Given the description of an element on the screen output the (x, y) to click on. 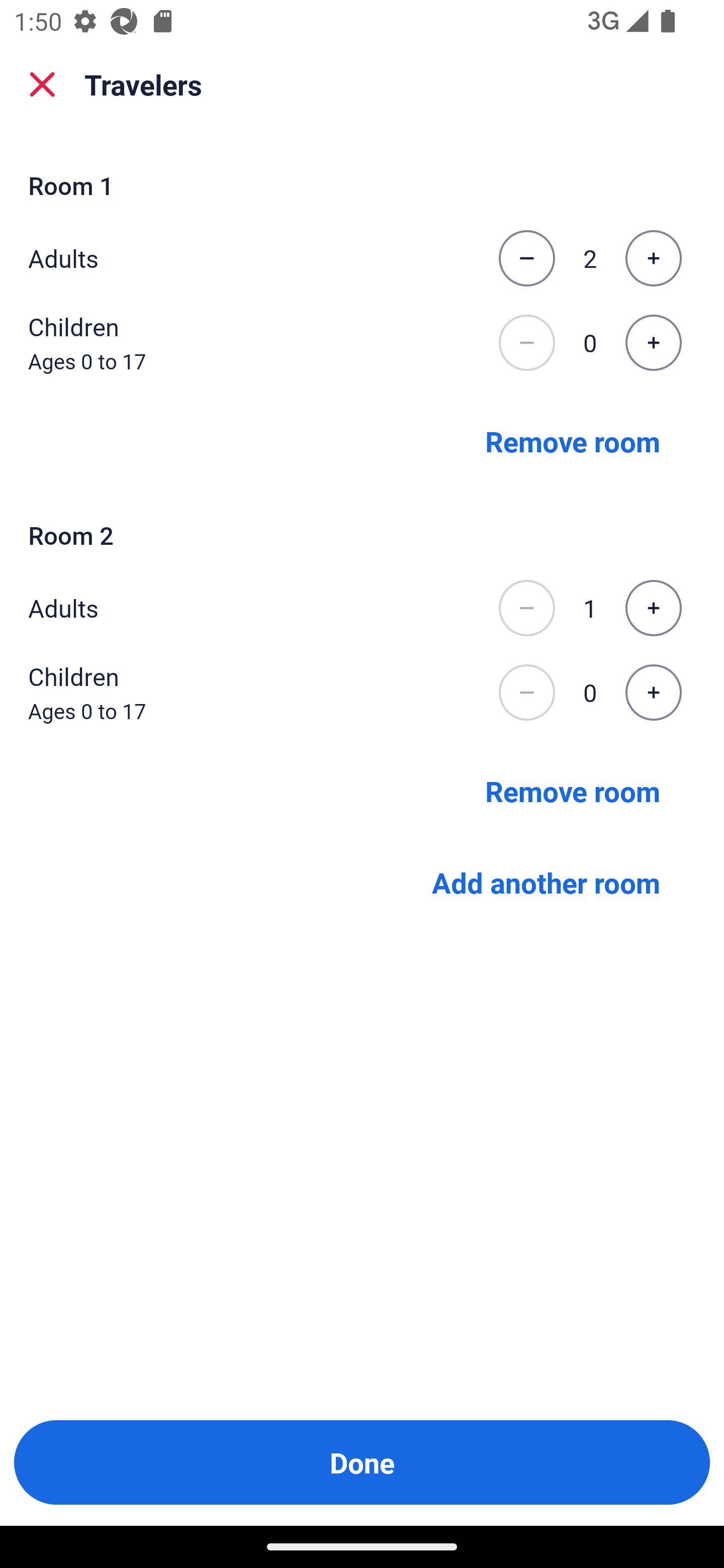
close (42, 84)
Decrease the number of adults (526, 258)
Increase the number of adults (653, 258)
Decrease the number of children (526, 343)
Increase the number of children (653, 343)
Remove room (572, 440)
Decrease the number of adults (526, 608)
Increase the number of adults (653, 608)
Decrease the number of children (526, 692)
Increase the number of children (653, 692)
Remove room (572, 790)
Add another room (545, 882)
Done (361, 1462)
